Given the description of an element on the screen output the (x, y) to click on. 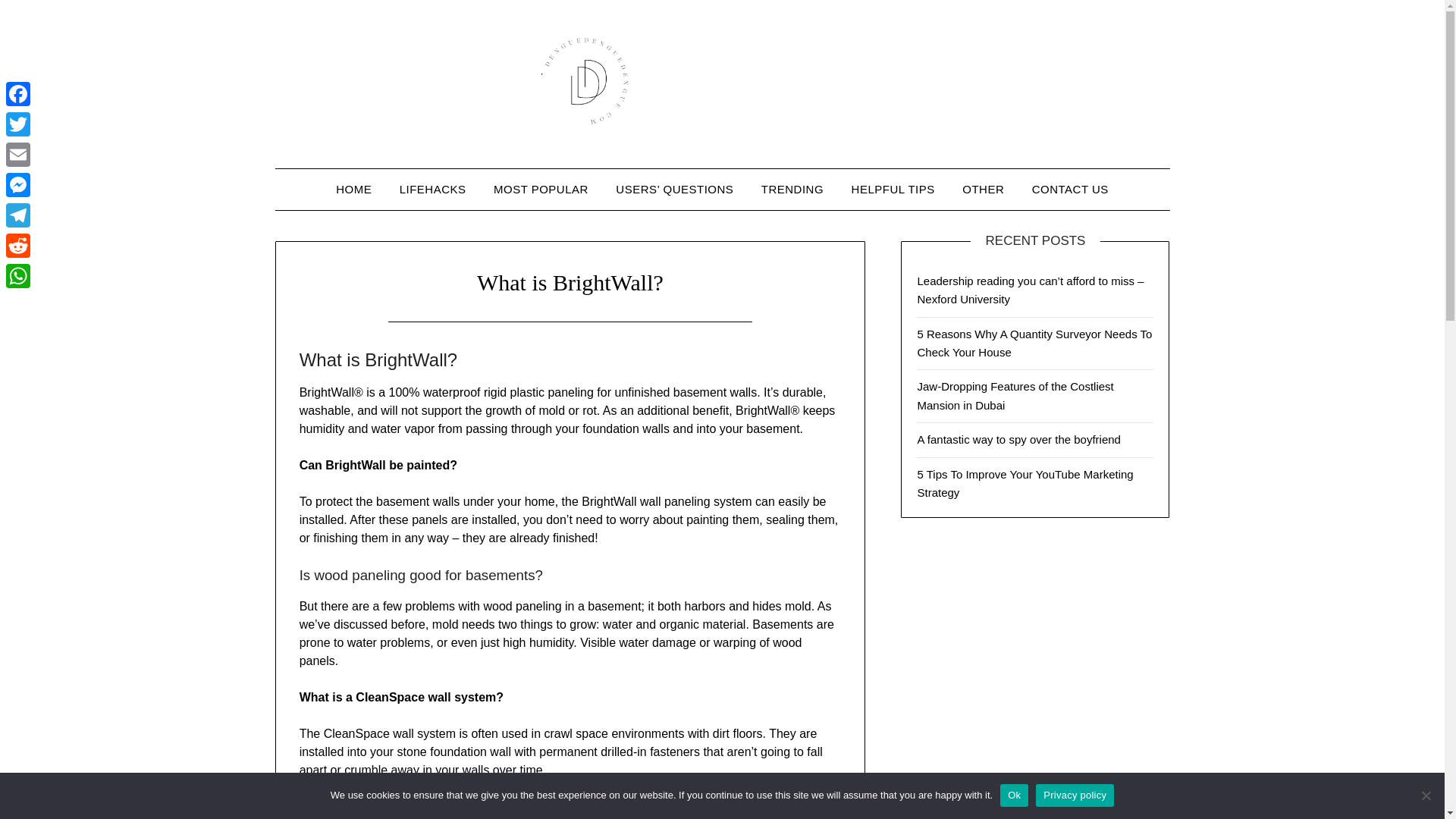
Facebook (17, 93)
Jaw-Dropping Features of the Costliest Mansion in Dubai (1015, 395)
HOME (353, 188)
MOST POPULAR (540, 188)
WhatsApp (17, 276)
Facebook (17, 93)
TRENDING (792, 188)
Telegram (17, 214)
Twitter (17, 123)
HELPFUL TIPS (893, 188)
5 Reasons Why A Quantity Surveyor Needs To Check Your House (1034, 342)
Email (17, 154)
CONTACT US (1070, 188)
Reddit (17, 245)
5 Tips To Improve Your YouTube Marketing Strategy (1024, 482)
